Given the description of an element on the screen output the (x, y) to click on. 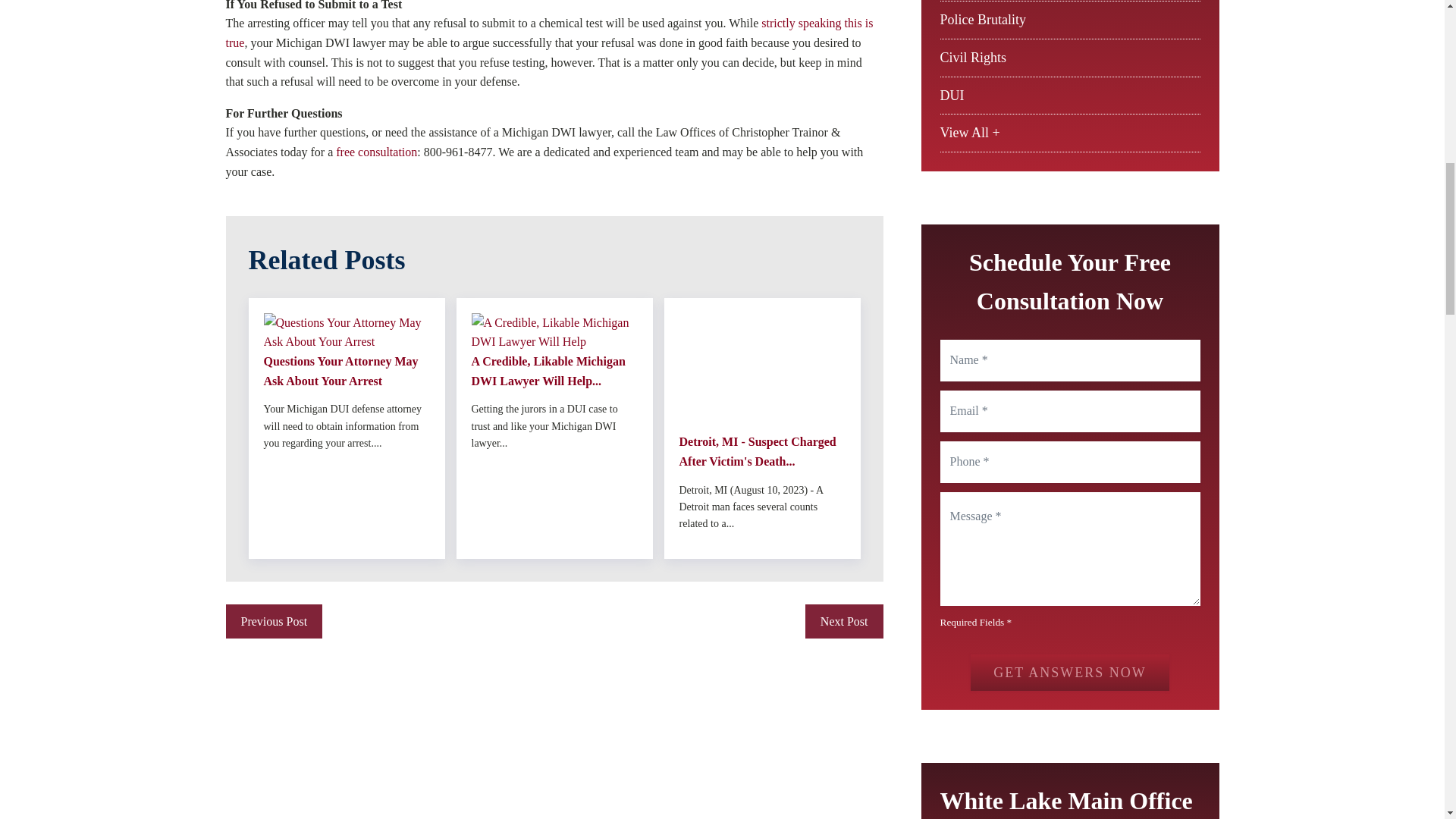
A Credible, Likable Michigan DWI Lawyer Will Help... (554, 371)
Civil Rights (973, 57)
strictly speaking this is true (549, 32)
Get Answers Now (1070, 672)
Previous Post (274, 621)
Get Answers Now (1070, 672)
Next Post (844, 621)
free consultation (376, 151)
Police Brutality (983, 19)
Detroit, MI - Suspect Charged After Victim's Death... (762, 451)
DUI (951, 95)
Questions Your Attorney May Ask About Your Arrest (346, 371)
